Given the description of an element on the screen output the (x, y) to click on. 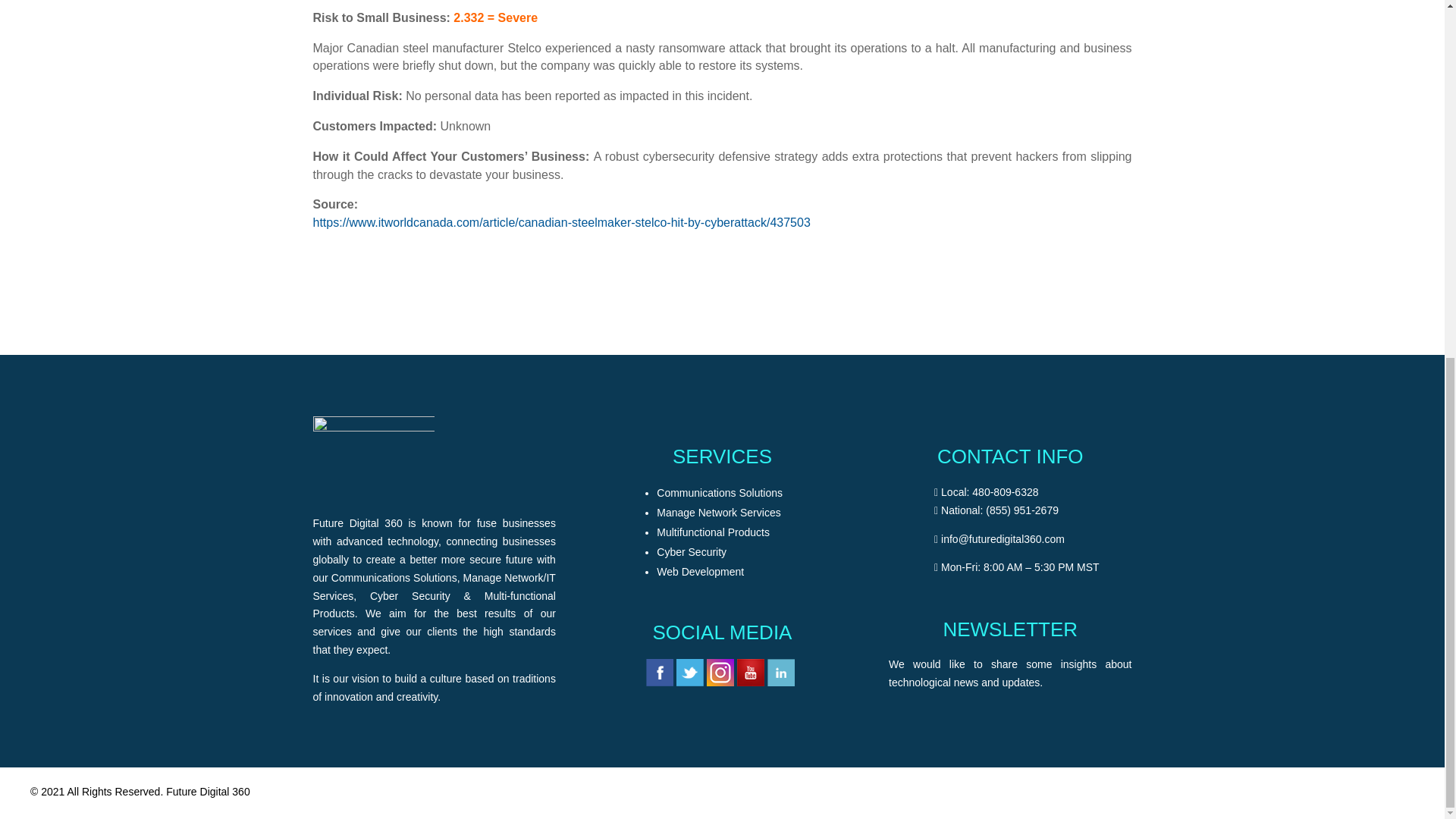
Like our Twitter page (690, 682)
Like our LinkedIn page (780, 682)
Like our YouTube page (750, 682)
Like our facebook page (659, 682)
logo (373, 454)
Like our Instagram page (719, 682)
